Given the description of an element on the screen output the (x, y) to click on. 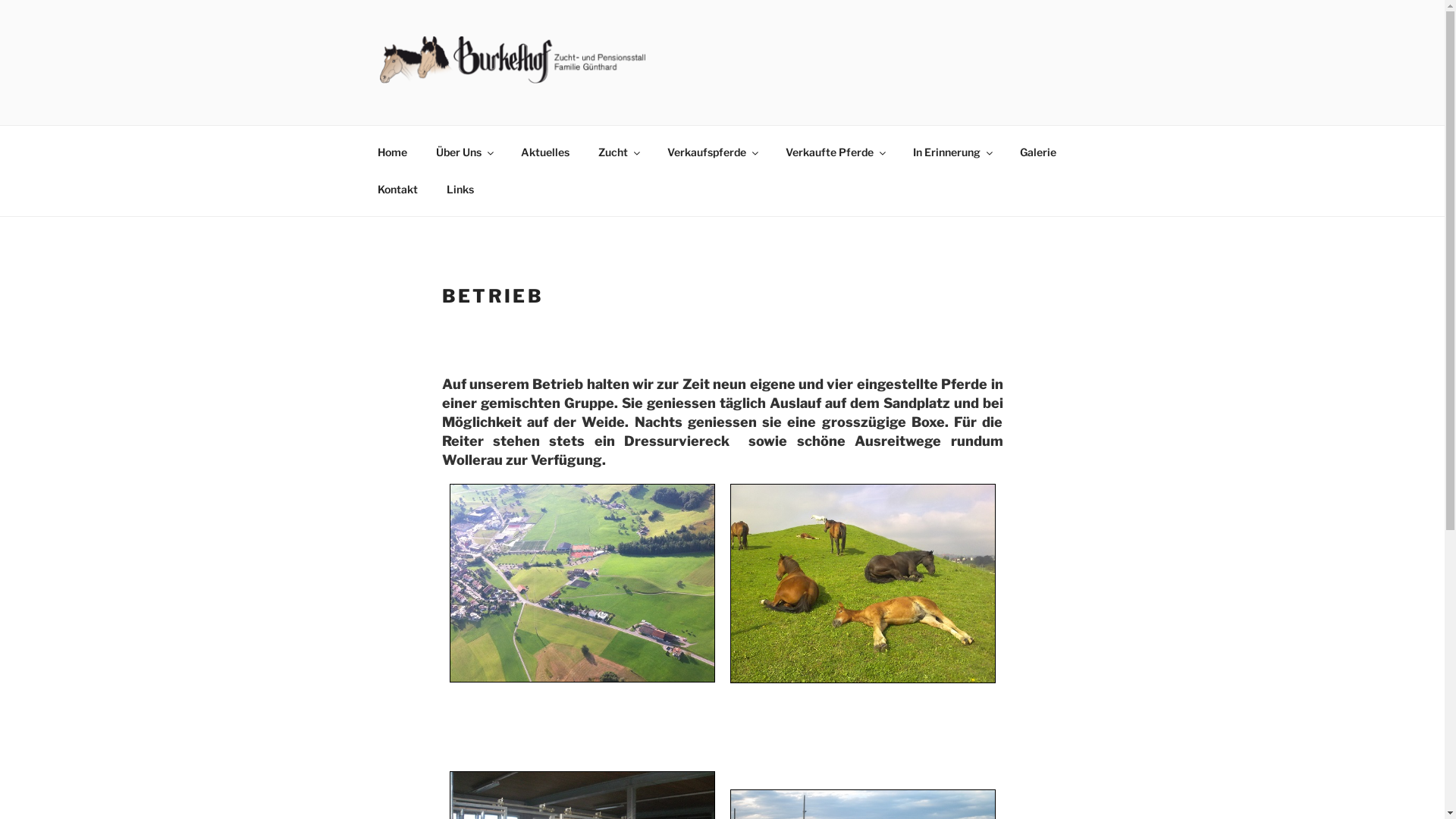
Home Element type: text (392, 151)
Kontakt Element type: text (397, 188)
Links Element type: text (460, 188)
In Erinnerung Element type: text (951, 151)
Zucht Element type: text (618, 151)
Verkaufspferde Element type: text (711, 151)
Aktuelles Element type: text (545, 151)
Galerie Element type: text (1038, 151)
Verkaufte Pferde Element type: text (834, 151)
BURKETHOF Element type: text (476, 105)
